Given the description of an element on the screen output the (x, y) to click on. 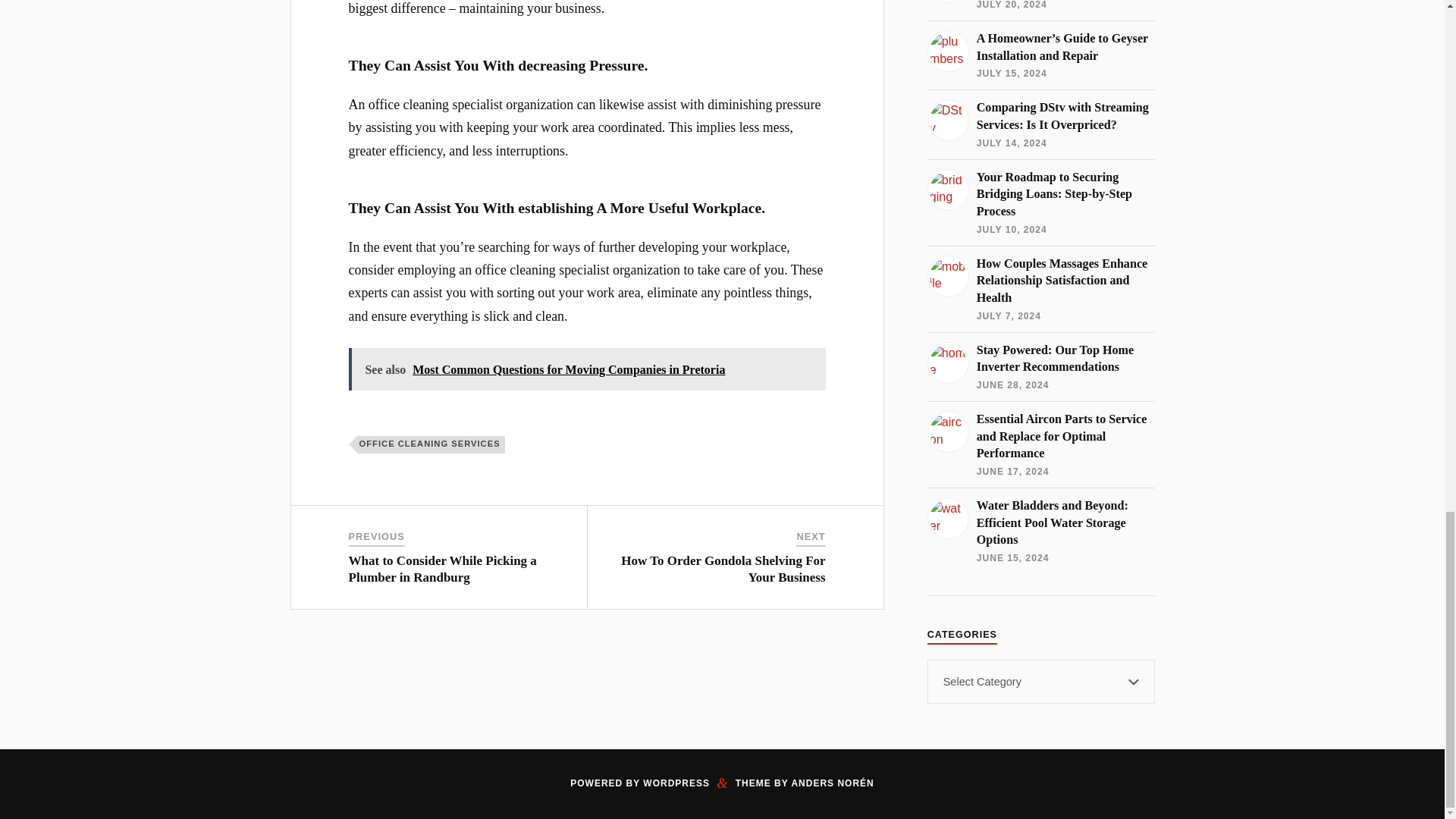
How To Order Gondola Shelving For Your Business (723, 568)
OFFICE CLEANING SERVICES (430, 443)
What to Consider While Picking a Plumber in Randburg (443, 568)
